Given the description of an element on the screen output the (x, y) to click on. 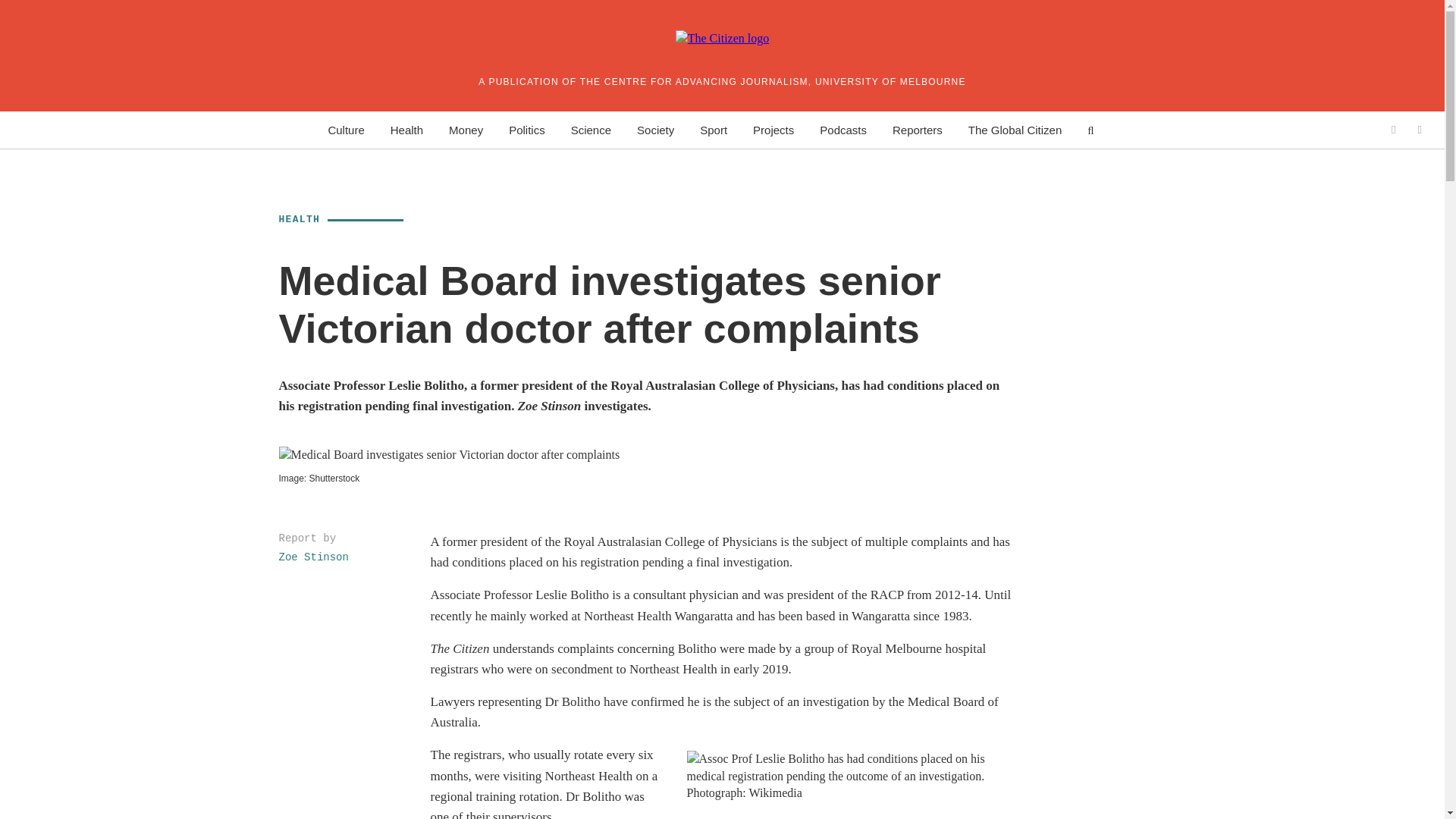
Science (590, 129)
Money (465, 129)
Projects (772, 129)
Sport (713, 129)
Health (406, 129)
Society (655, 129)
Culture (345, 129)
Politics (526, 129)
